Given the description of an element on the screen output the (x, y) to click on. 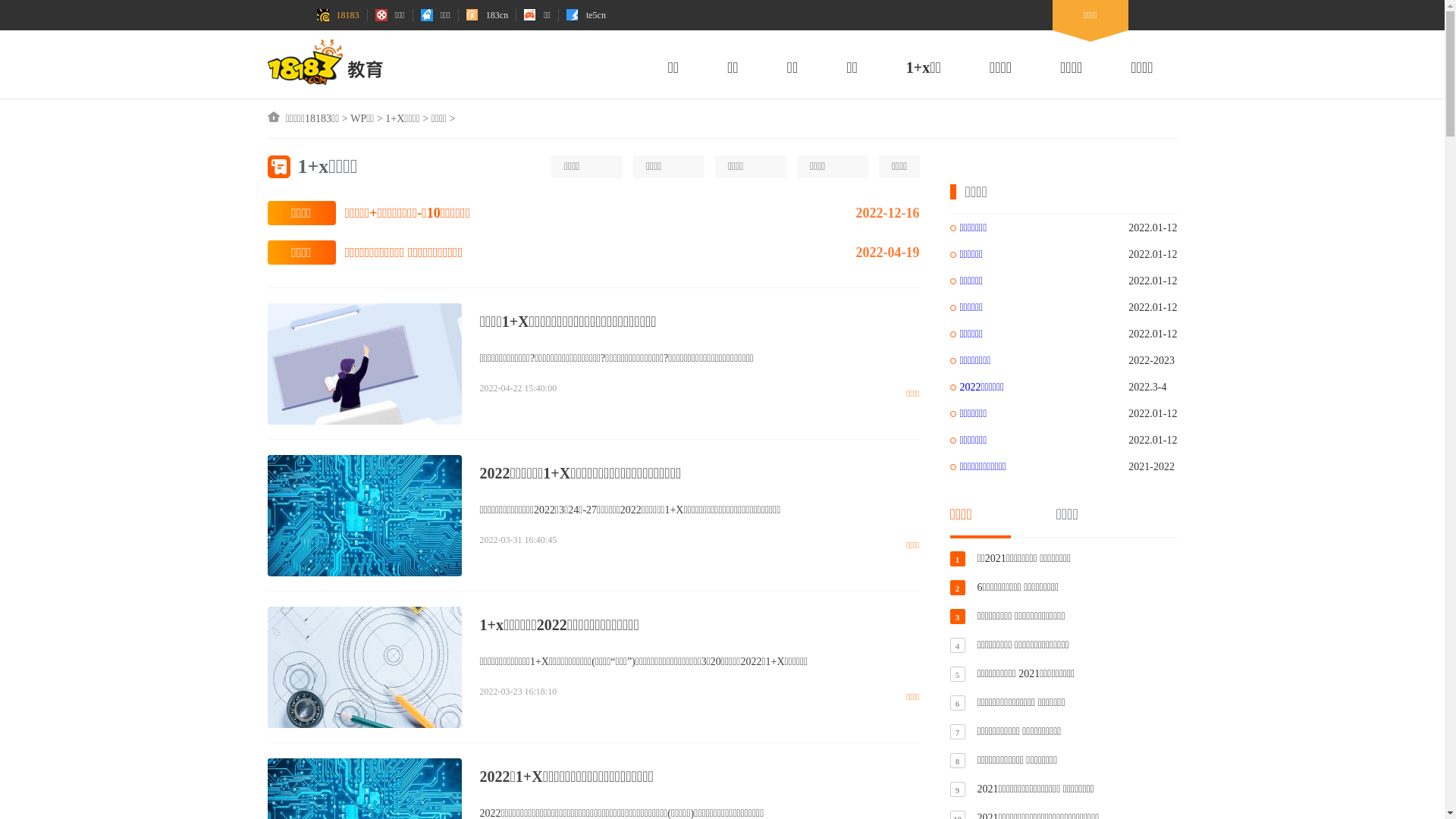
183cn Element type: text (487, 14)
te5cn Element type: text (585, 14)
18183 Element type: text (337, 14)
